Given the description of an element on the screen output the (x, y) to click on. 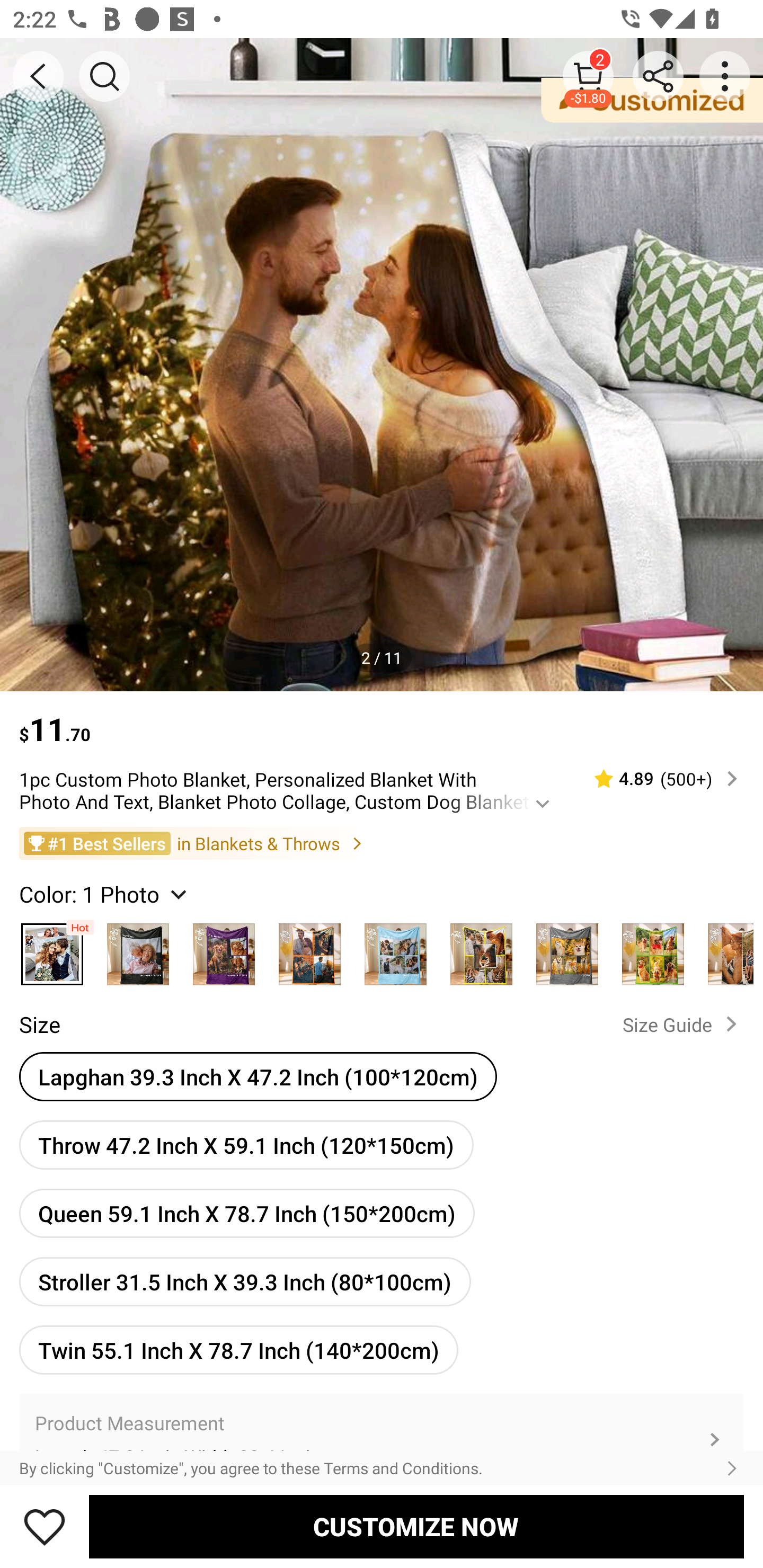
PHOTOS 2 / 11 (381, 364)
BACK (38, 75)
2 -$1.80 (588, 75)
2 / 11 (381, 656)
$11.70 (381, 720)
4.89 (500‎+) (658, 778)
#1 Best Sellers in Blankets & Throws (381, 842)
Color: 1 Photo (105, 893)
1 Photo (52, 949)
1 Photo + Text (138, 949)
3 Photos + Text (224, 949)
4 Photos (309, 949)
4 Photos + Text (395, 949)
5 Photos (481, 949)
5 Photos + Text (567, 949)
6 Photos (652, 949)
6 Photos - 2 (724, 949)
Size (39, 1024)
Size Guide (682, 1023)
CUSTOMIZE NOW (416, 1526)
Save (44, 1526)
